Given the description of an element on the screen output the (x, y) to click on. 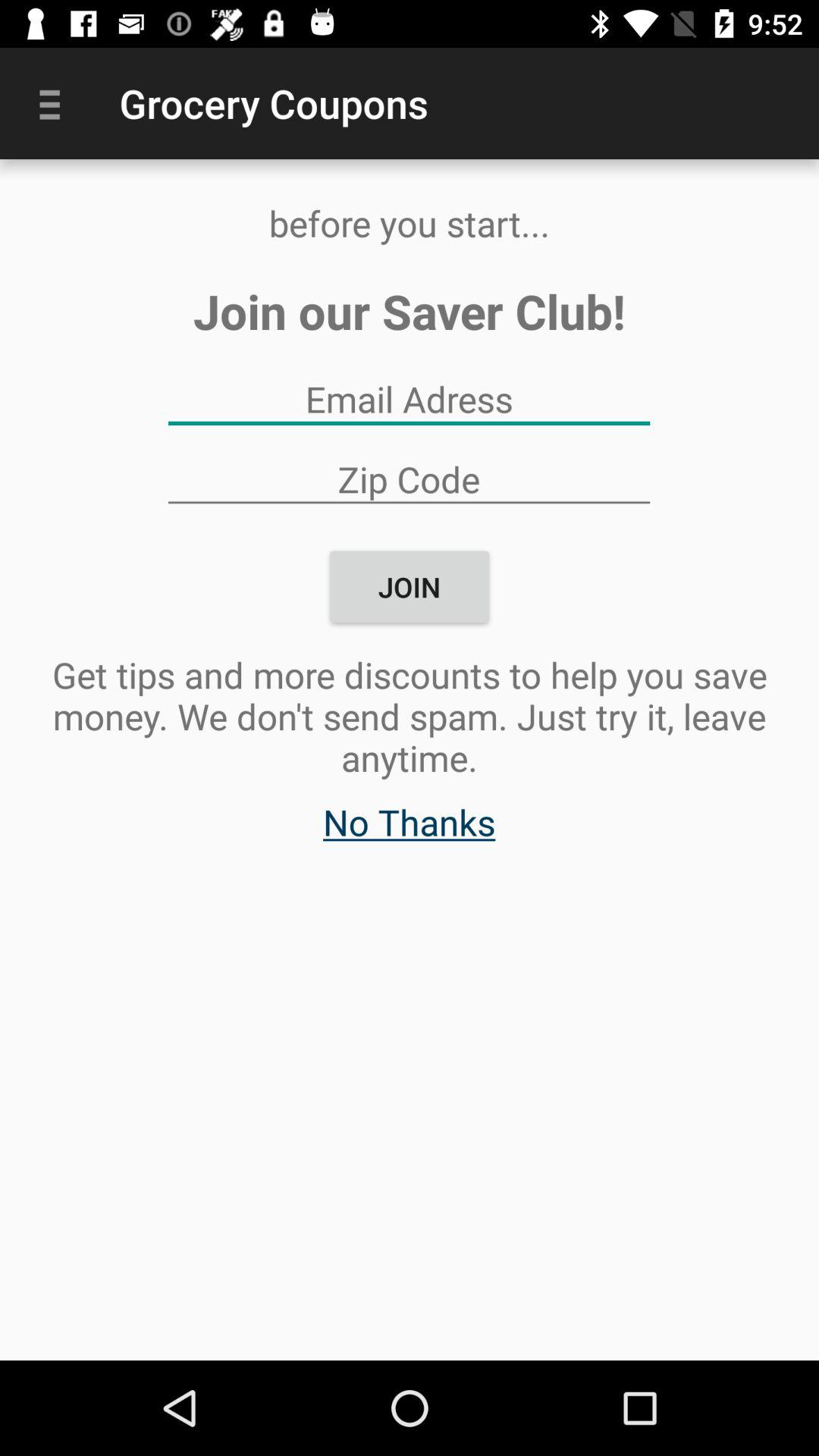
open the app next to the grocery coupons icon (55, 103)
